Given the description of an element on the screen output the (x, y) to click on. 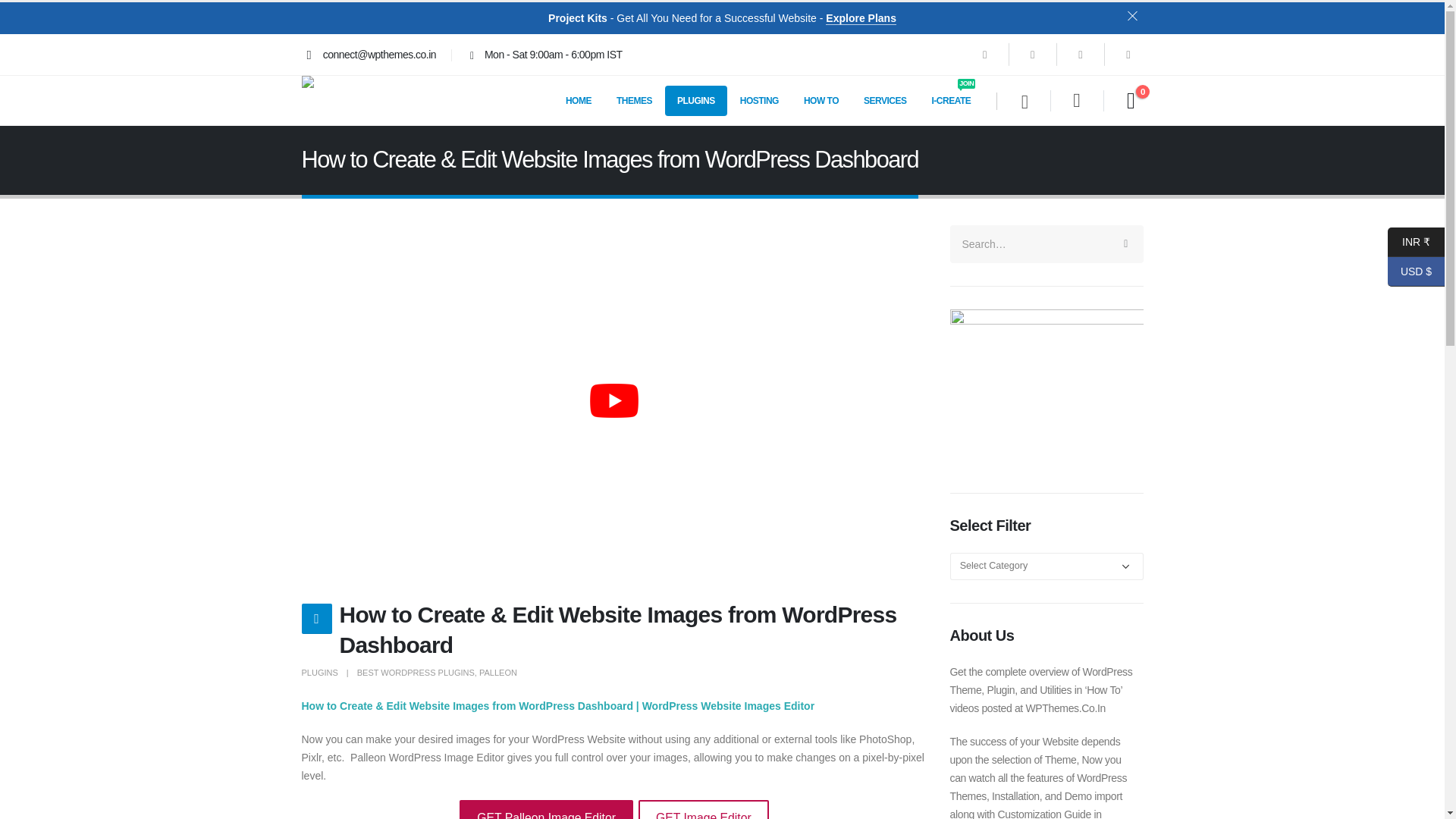
Mon - Sat 9:00am - 6:00pm IST (543, 54)
My Account (1075, 100)
GET Palleon Image Editor (546, 809)
PLUGINS (695, 100)
SERVICES (884, 100)
PLUGINS (319, 672)
BEST WORDPRESS PLUGINS (415, 672)
PALLEON (497, 672)
THEMES (633, 100)
WP Themes - Features Installation and Hosting (350, 100)
